Given the description of an element on the screen output the (x, y) to click on. 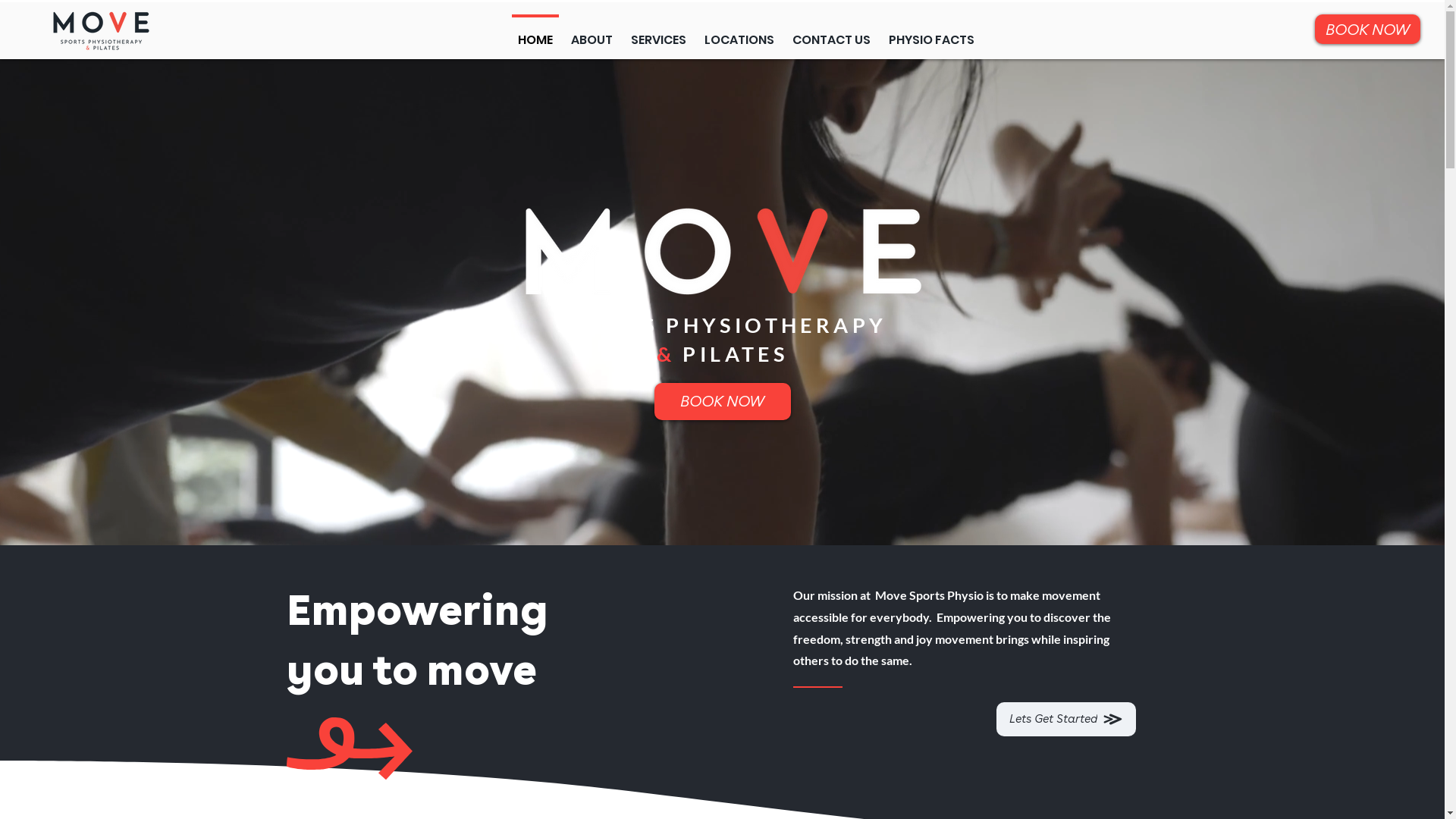
CONTACT US Element type: text (831, 33)
HOME Element type: text (534, 33)
PHYSIO FACTS Element type: text (931, 33)
BOOK NOW Element type: text (1367, 28)
ABOUT Element type: text (591, 33)
LOCATIONS Element type: text (739, 33)
SERVICES Element type: text (658, 33)
BOOK NOW Element type: text (721, 401)
Lets Get Started Element type: text (1065, 719)
